Given the description of an element on the screen output the (x, y) to click on. 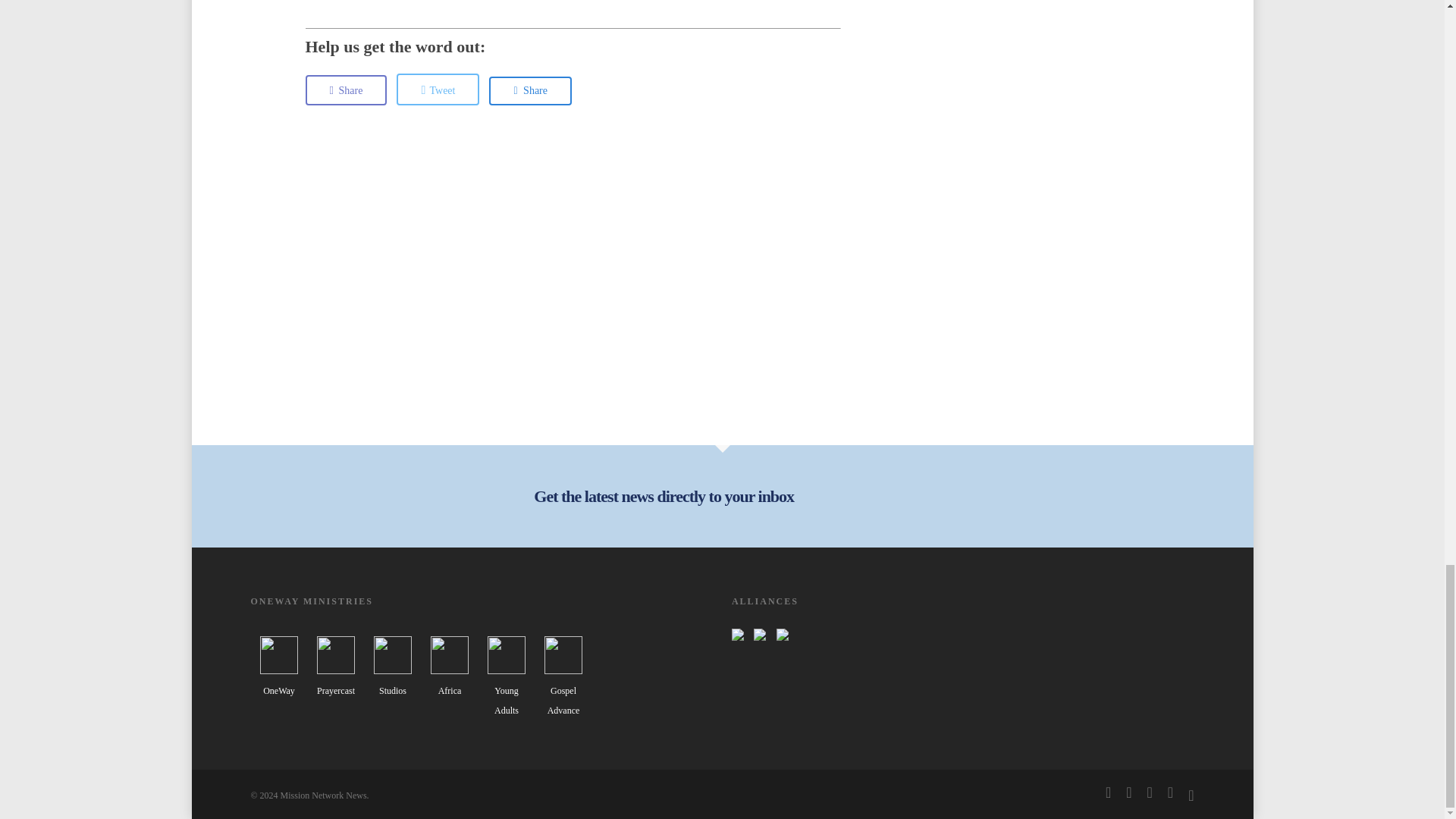
Share this (530, 90)
Tweet this (437, 89)
Share this (345, 90)
